Given the description of an element on the screen output the (x, y) to click on. 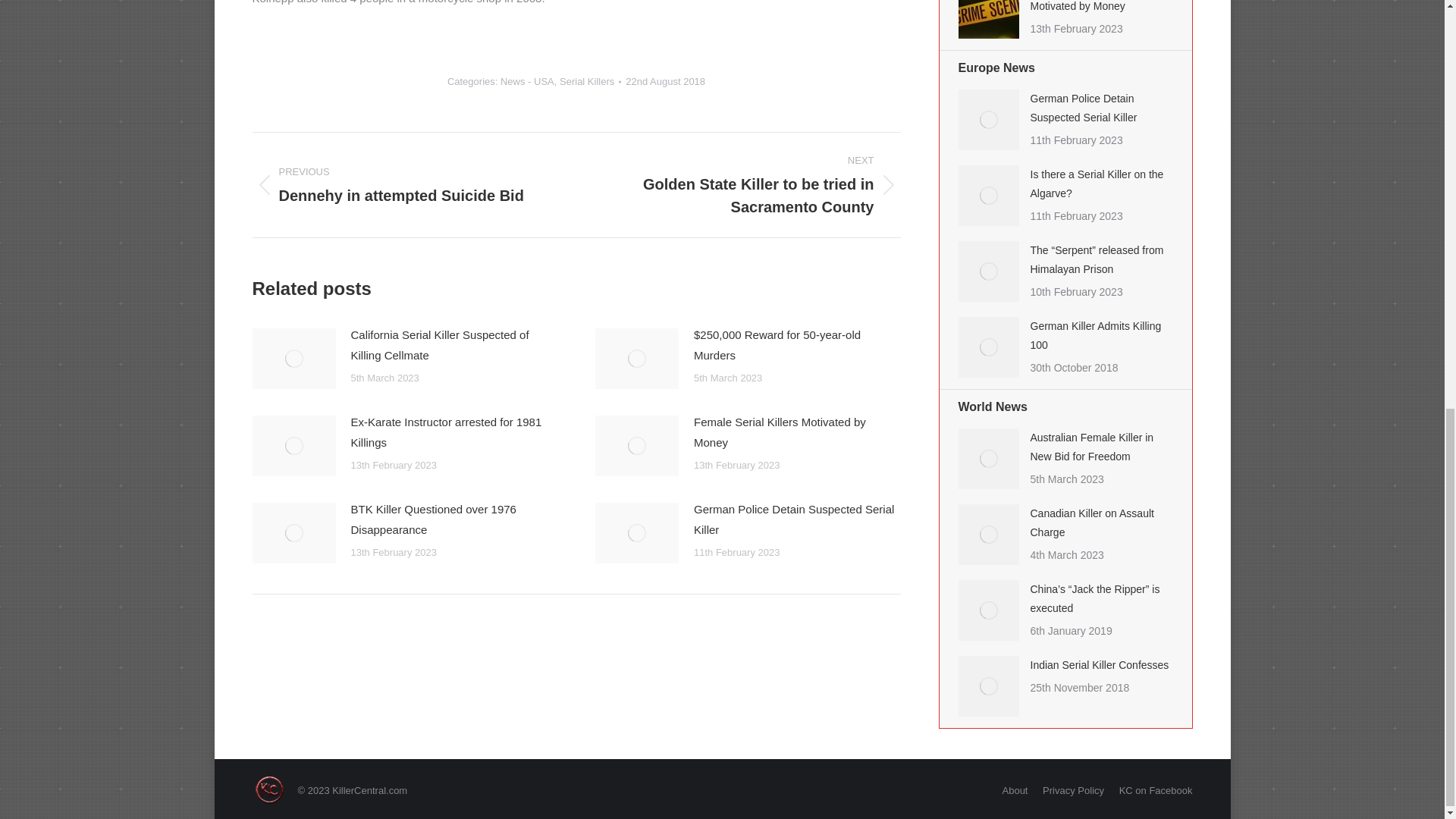
21:47 (665, 81)
